Given the description of an element on the screen output the (x, y) to click on. 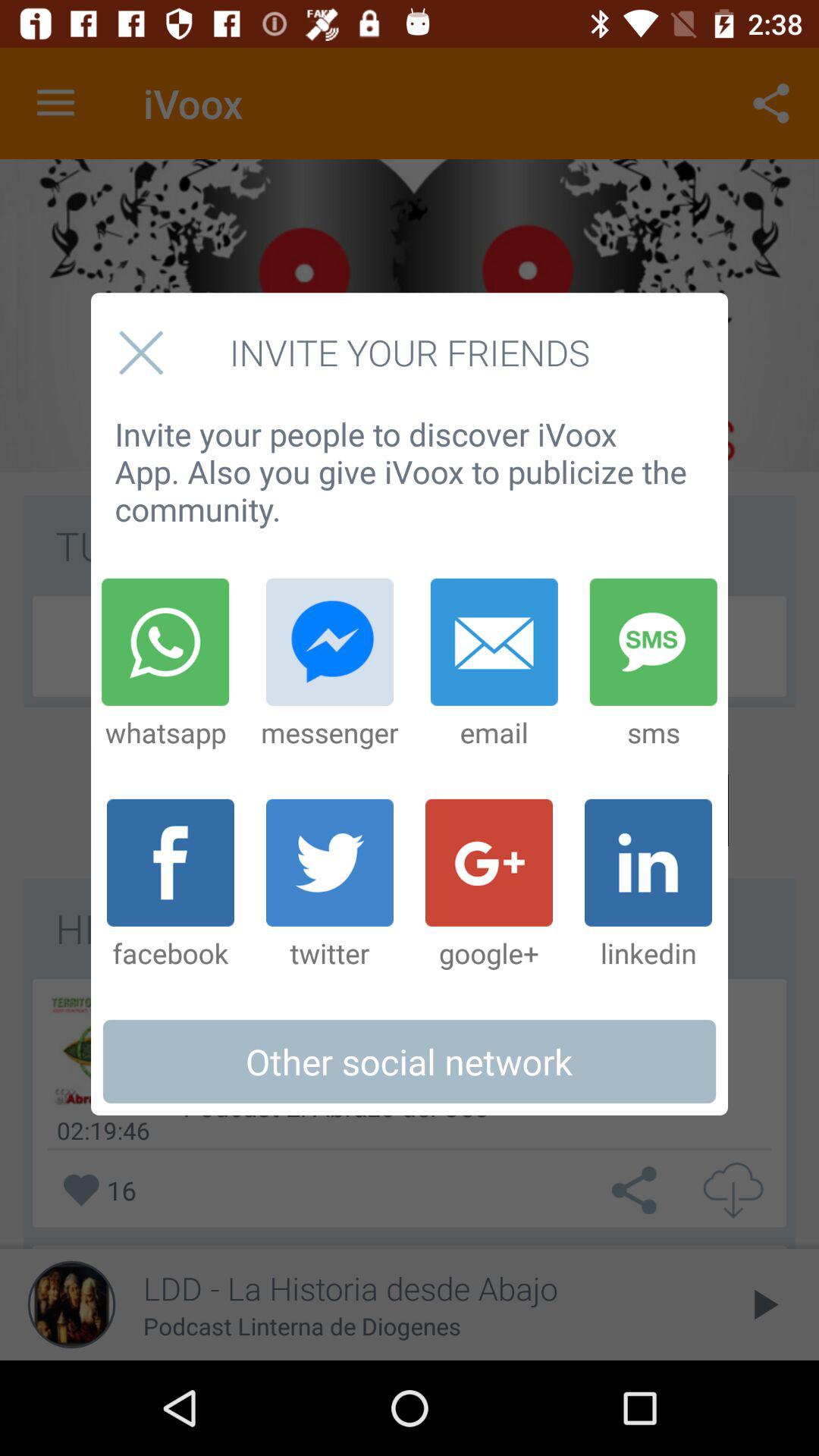
open the item below invite your people item (165, 664)
